Given the description of an element on the screen output the (x, y) to click on. 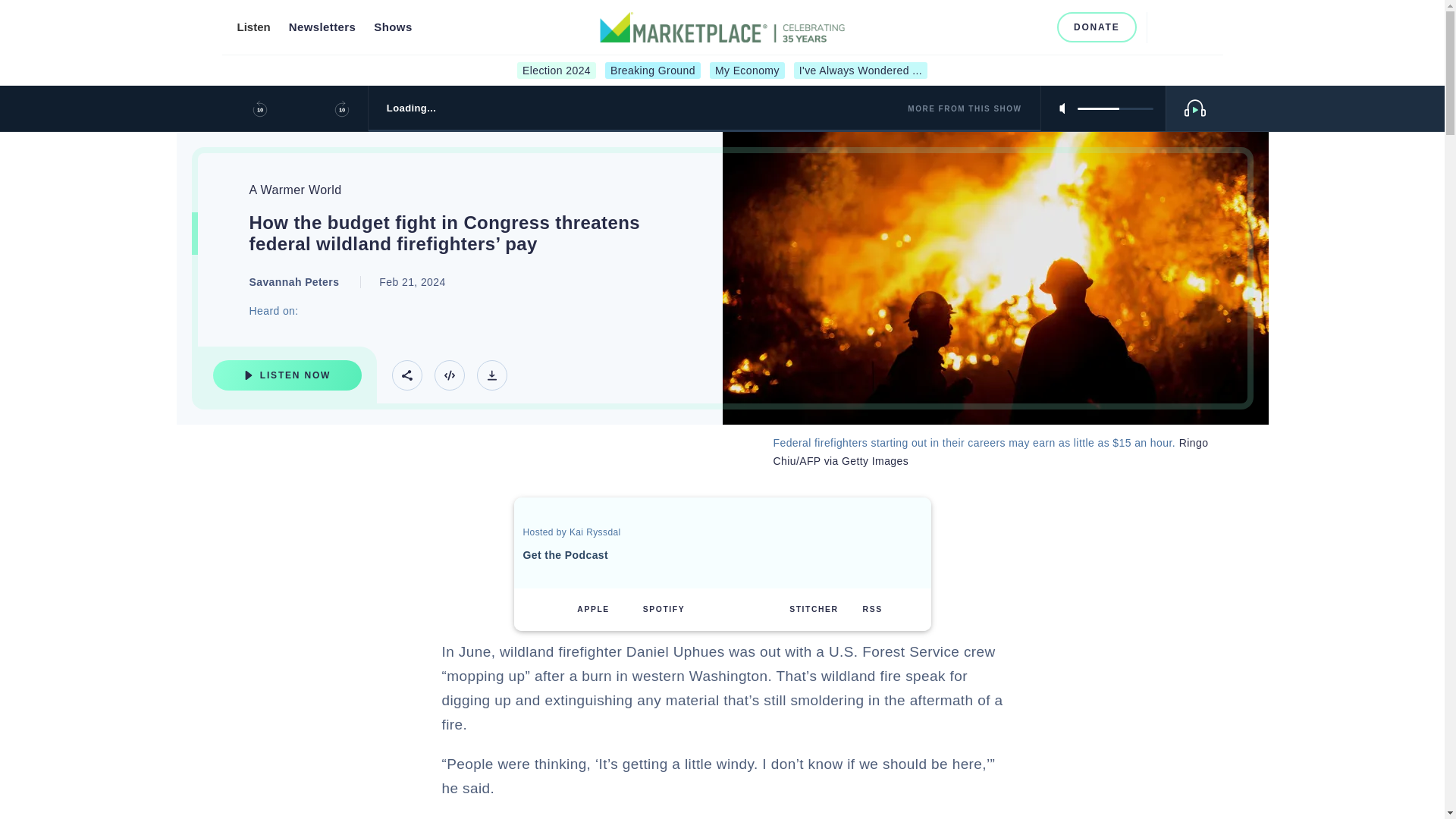
Download Track (491, 374)
Instagram (985, 27)
Shows (393, 26)
Menu (1198, 27)
volume (1115, 108)
DONATE (1097, 27)
5 (1115, 108)
TikTok (1035, 27)
Facebook (962, 27)
Listen Now (286, 374)
